Given the description of an element on the screen output the (x, y) to click on. 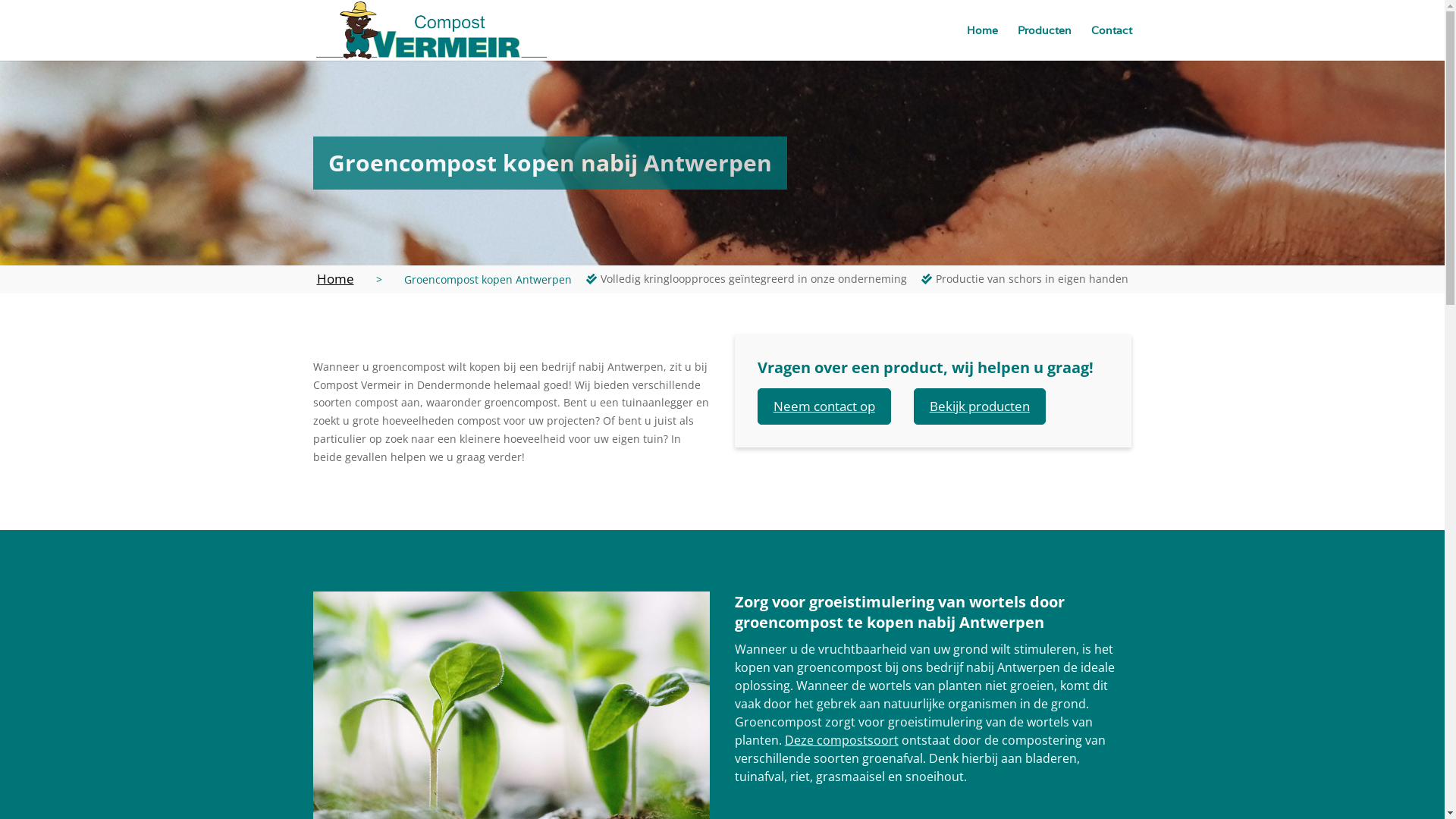
Producten Element type: text (1044, 30)
Contact Element type: text (1110, 30)
Bekijk producten Element type: text (979, 406)
Deze compostsoort Element type: text (841, 739)
Neem contact op Element type: text (824, 406)
Home Element type: text (335, 278)
Home Element type: text (981, 30)
